Given the description of an element on the screen output the (x, y) to click on. 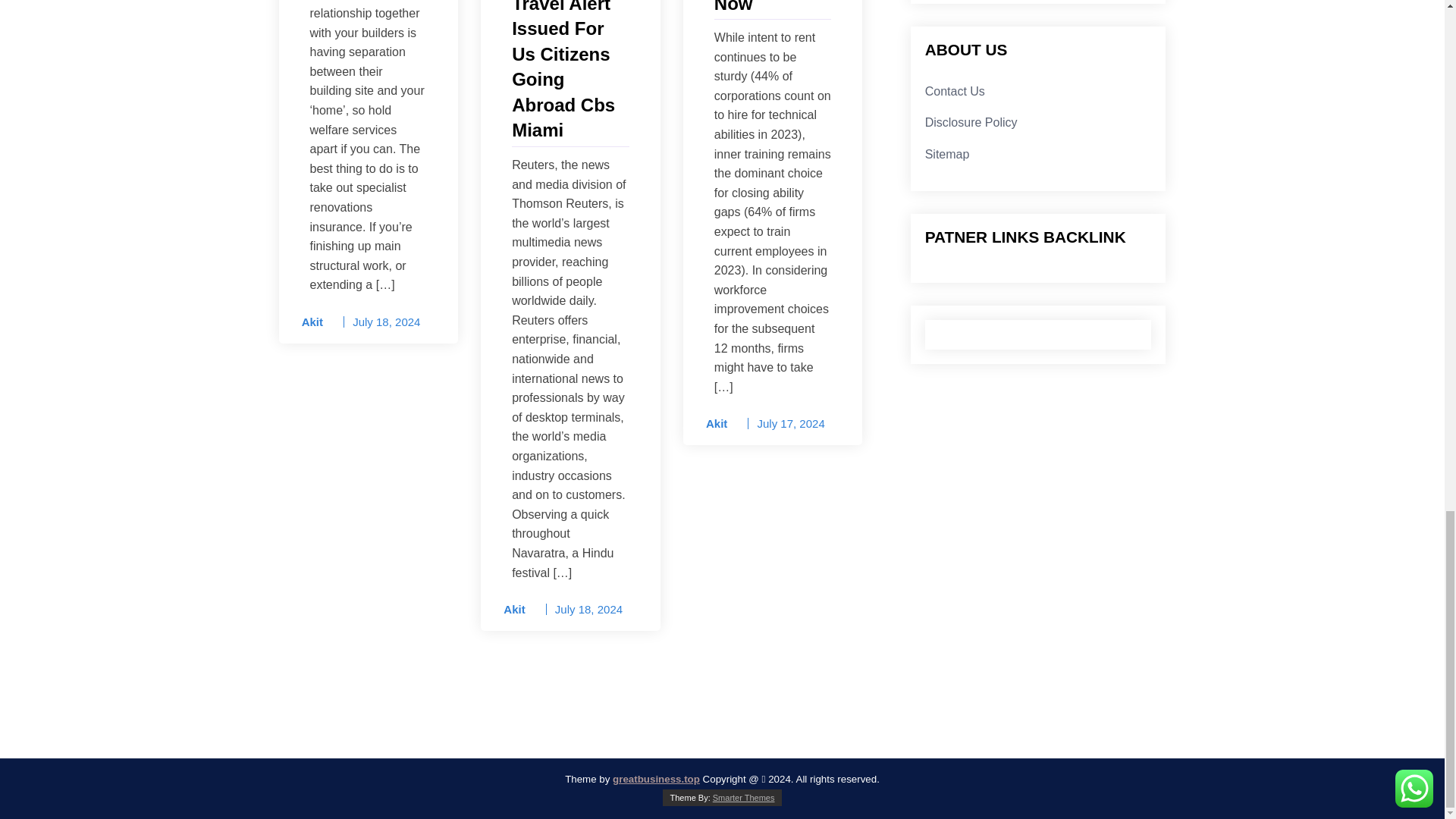
Akit (307, 321)
Akit (509, 609)
July 18, 2024 (588, 608)
July 17, 2024 (790, 422)
15 Best New Technology Trends In 2022- Know Every Thing Now (772, 8)
July 18, 2024 (386, 321)
Akit (711, 423)
